Given the description of an element on the screen output the (x, y) to click on. 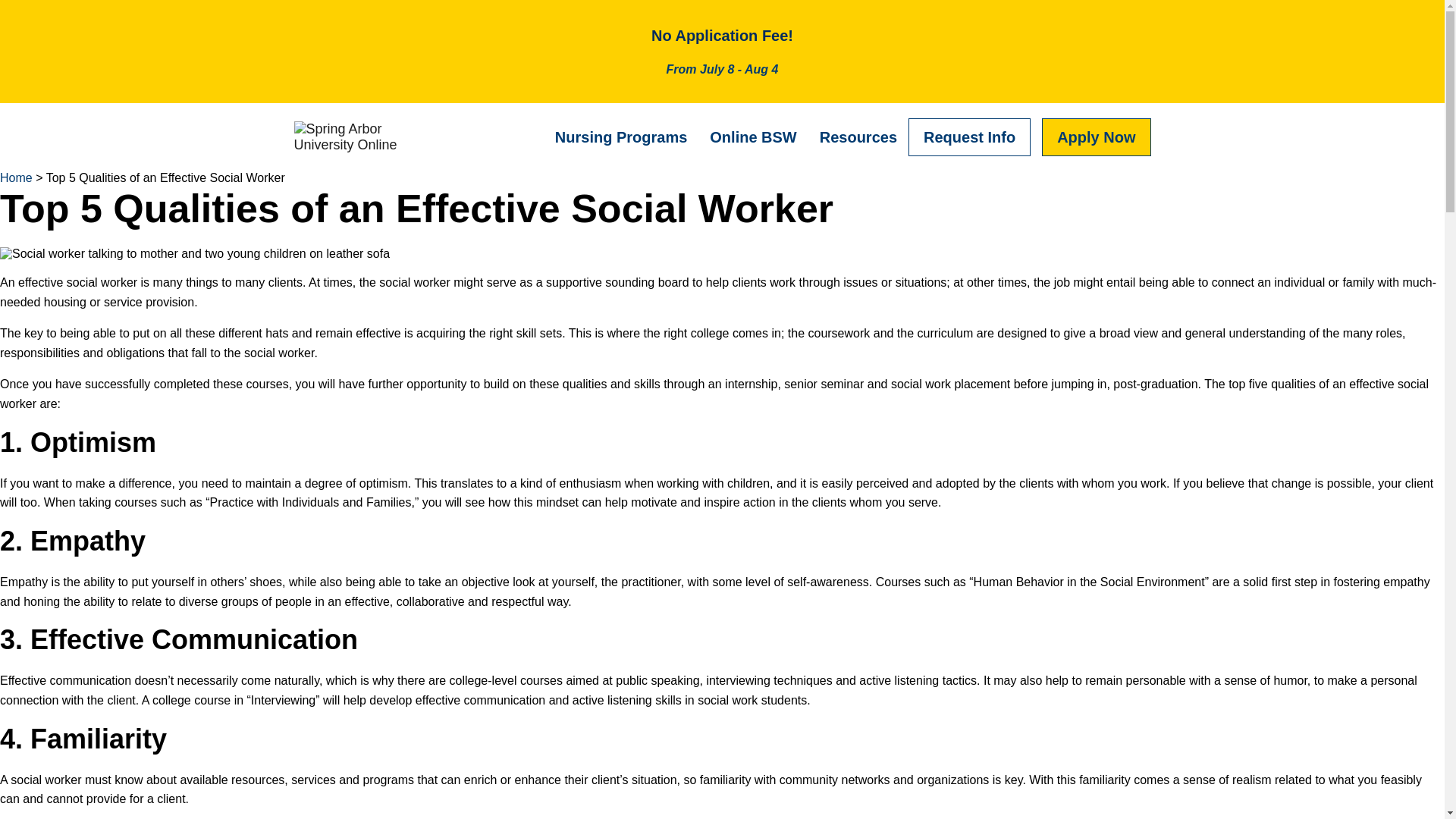
Nursing Programs (620, 136)
Image (350, 137)
Apply Now (1096, 136)
Request Info (969, 136)
Online BSW (753, 136)
Home (16, 177)
